Given the description of an element on the screen output the (x, y) to click on. 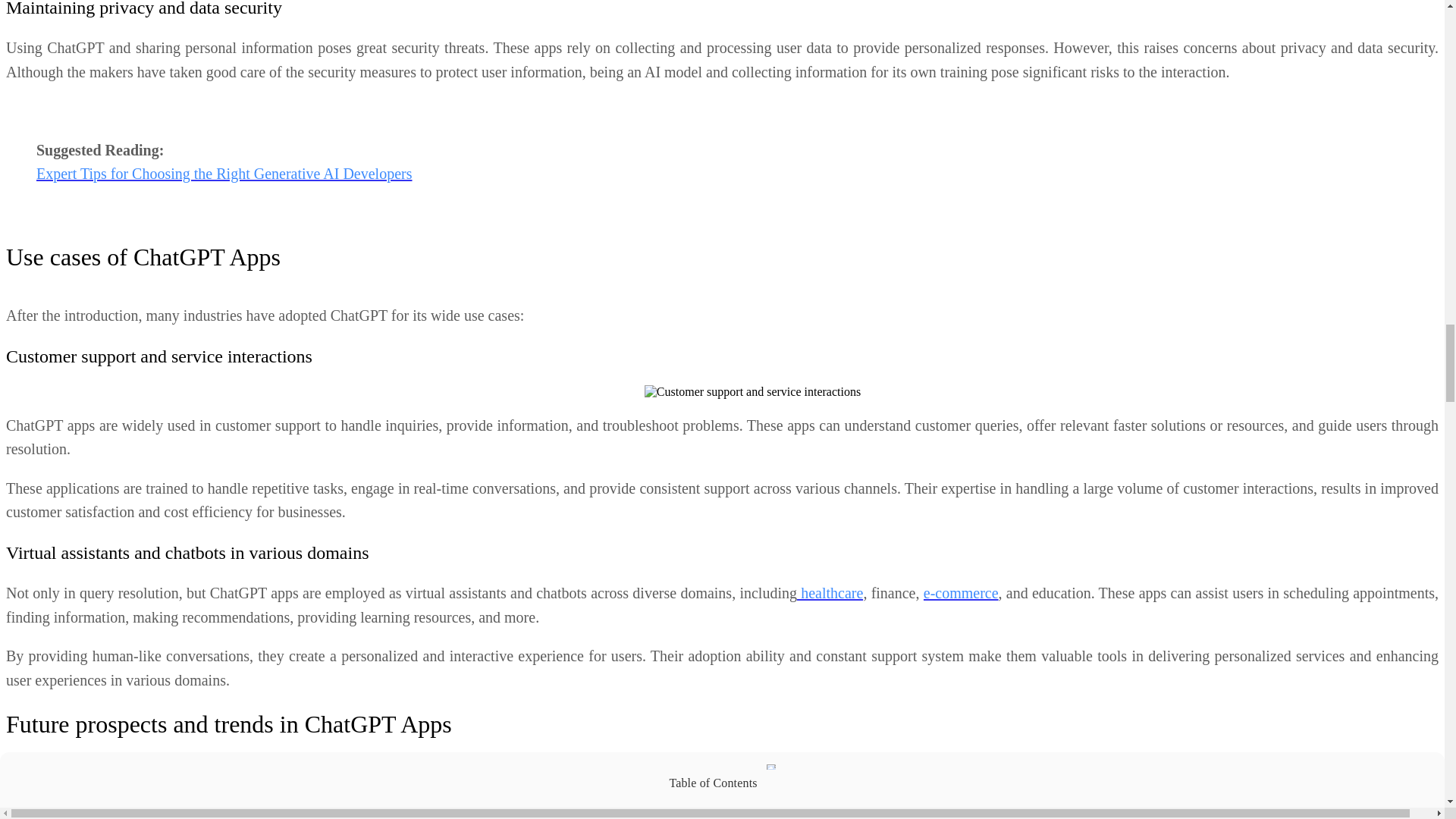
Expert Tips for Choosing the Right Generative AI Developers (224, 173)
healthcare (829, 592)
e-commerce (960, 592)
